Given the description of an element on the screen output the (x, y) to click on. 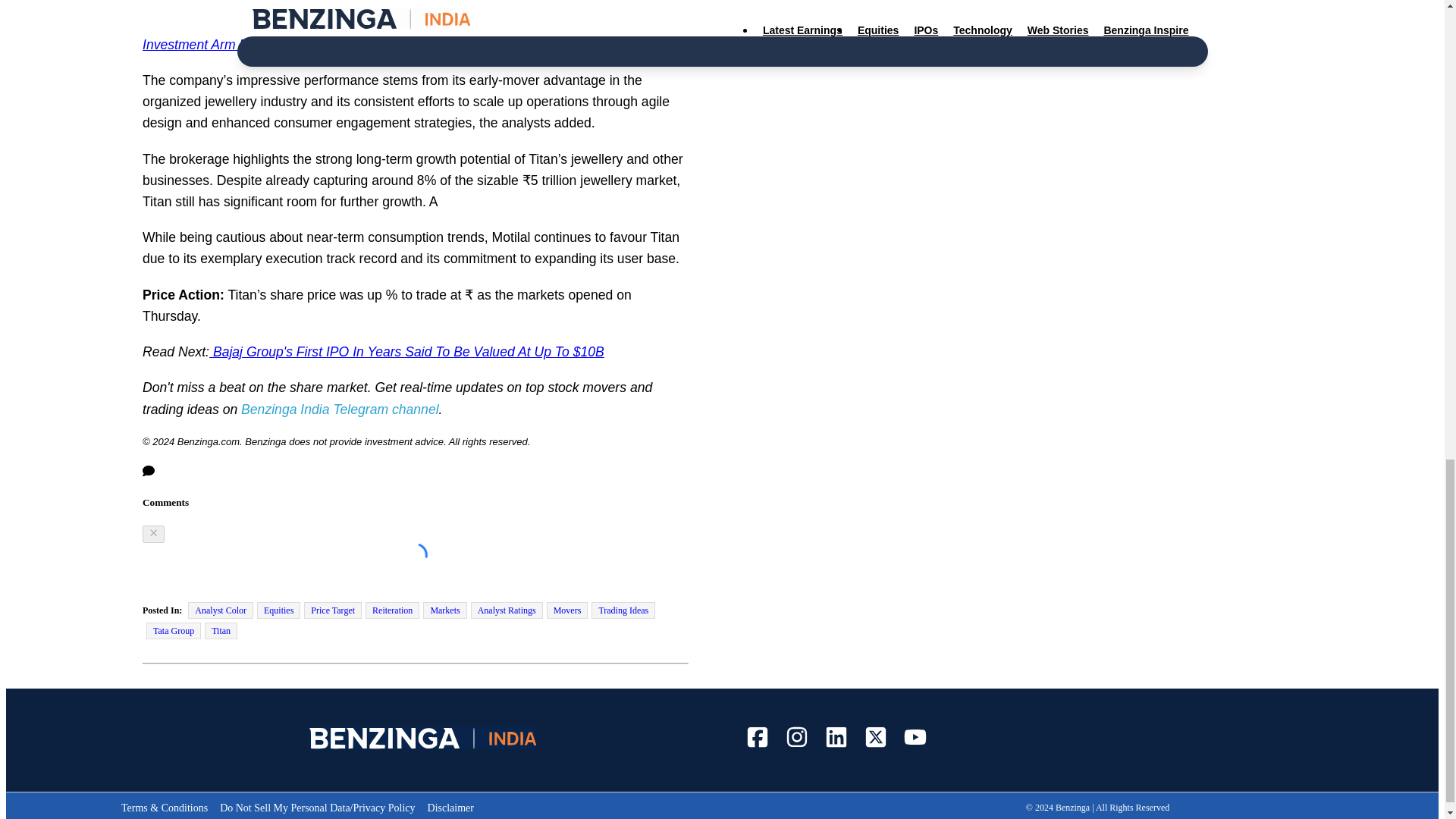
Tata Group (173, 630)
Titan (221, 630)
Price Target (332, 610)
Disclaimer (451, 808)
Trading Ideas (623, 610)
Reiteration (392, 610)
Markets (444, 610)
Analyst Color (220, 610)
Equities (278, 610)
Benzinga India Telegram channel (340, 409)
Movers (567, 610)
Analyst Ratings (506, 610)
Close menu (153, 533)
